Given the description of an element on the screen output the (x, y) to click on. 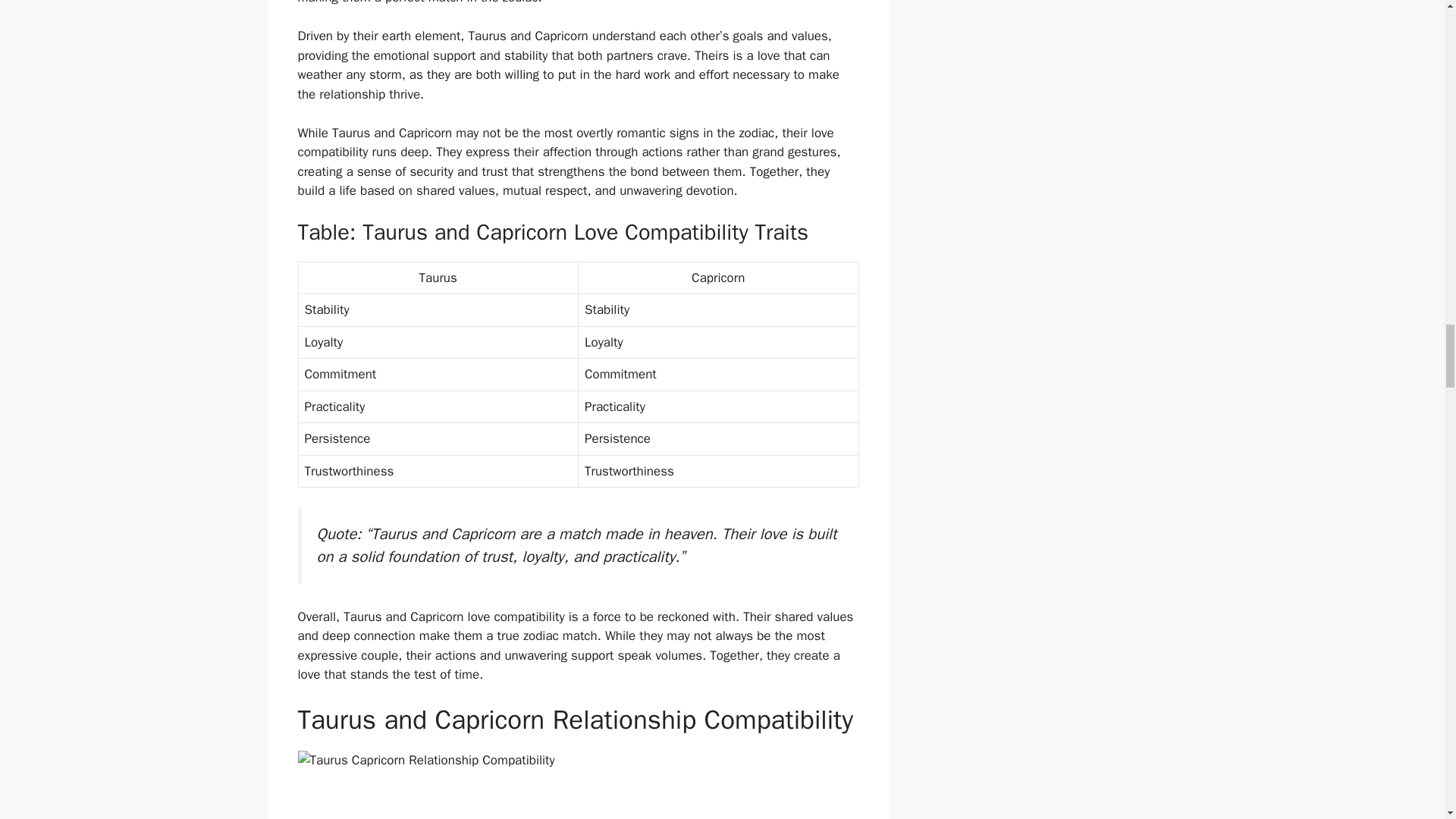
Taurus Capricorn Relationship Compatibility (578, 785)
